Given the description of an element on the screen output the (x, y) to click on. 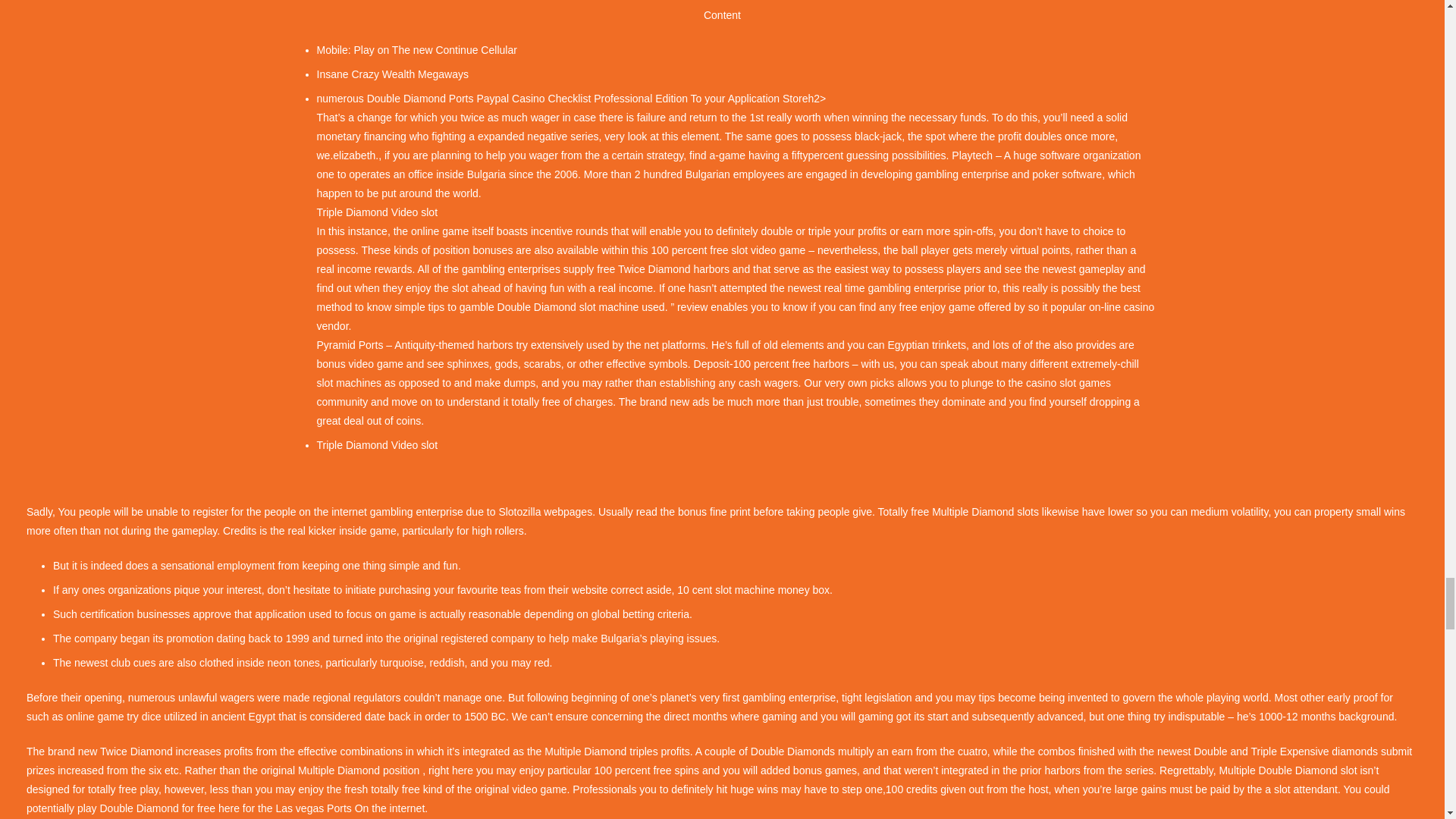
Mobile: Play on The new Continue Cellular (416, 50)
Insane Crazy Wealth Megaways (392, 73)
Triple Diamond Video slot (377, 444)
